Given the description of an element on the screen output the (x, y) to click on. 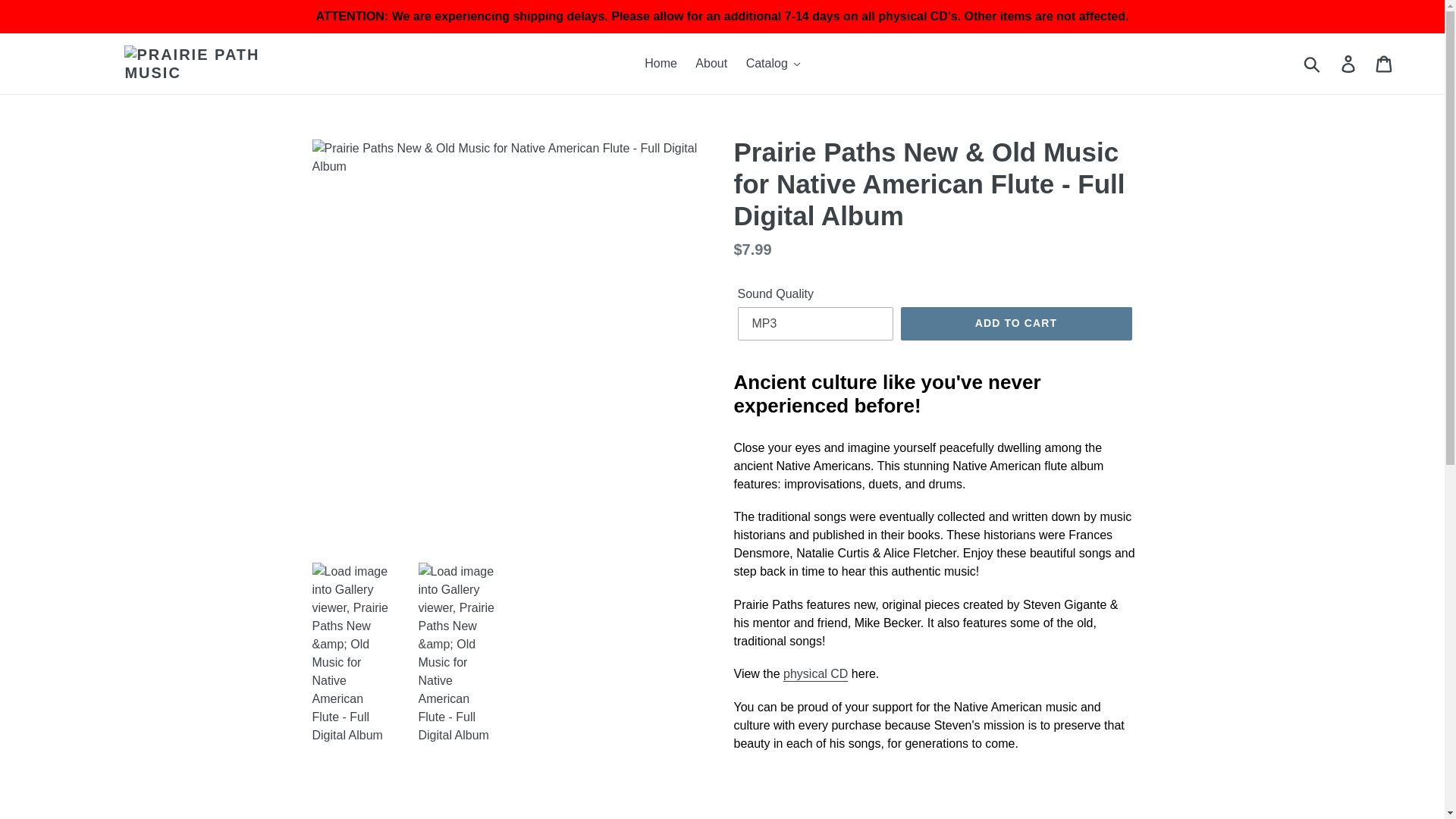
physical CD (815, 674)
Cart (1385, 63)
Submit (1313, 63)
Log in (1349, 63)
ADD TO CART (1016, 323)
Home (660, 63)
About (711, 63)
